Given the description of an element on the screen output the (x, y) to click on. 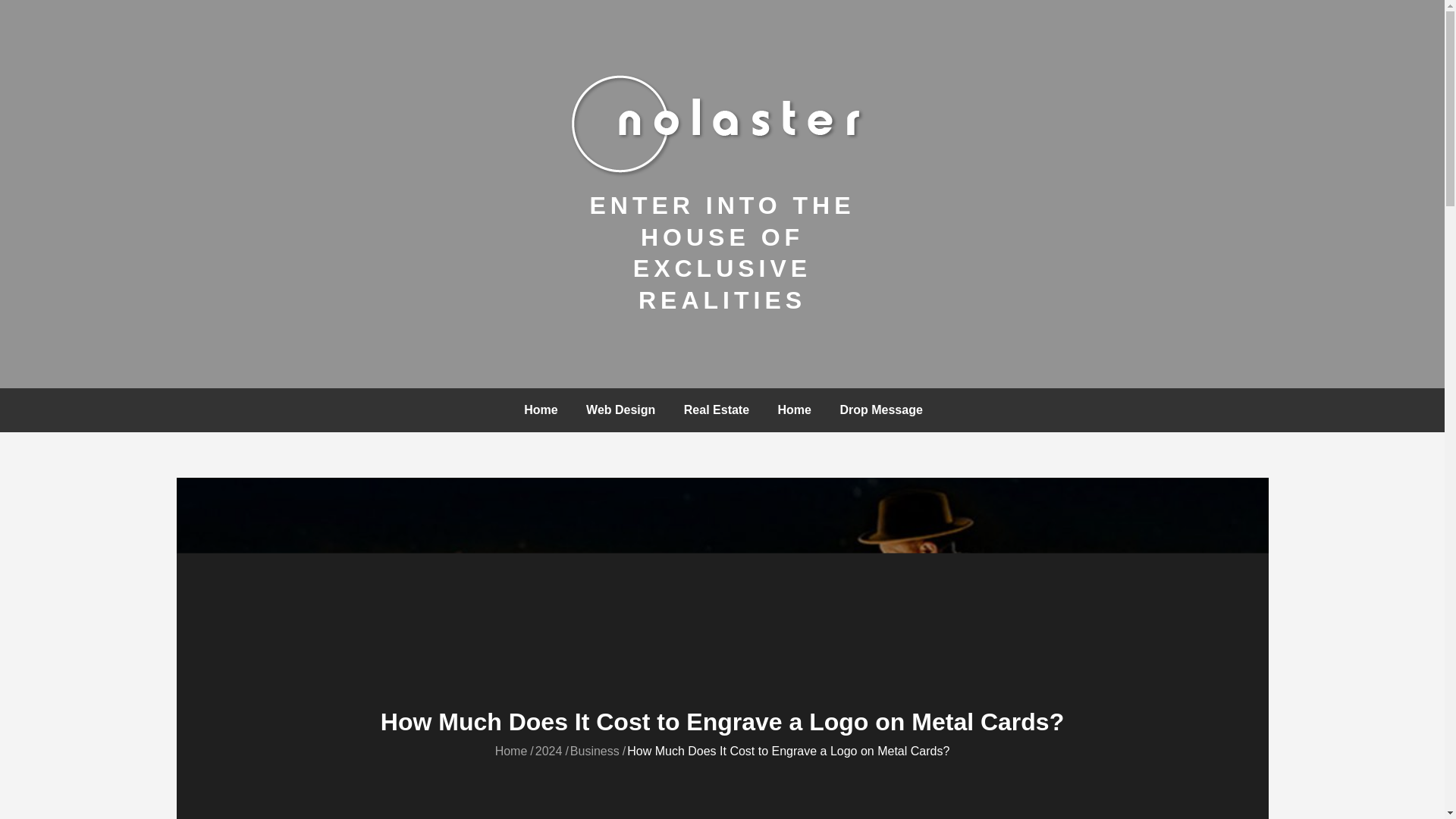
Real Estate (715, 410)
2024 (548, 750)
Business (595, 750)
Home (794, 410)
Drop Message (880, 410)
Home (540, 410)
ENTER INTO THE HOUSE OF EXCLUSIVE REALITIES (721, 252)
Web Design (620, 410)
Home (511, 750)
